Given the description of an element on the screen output the (x, y) to click on. 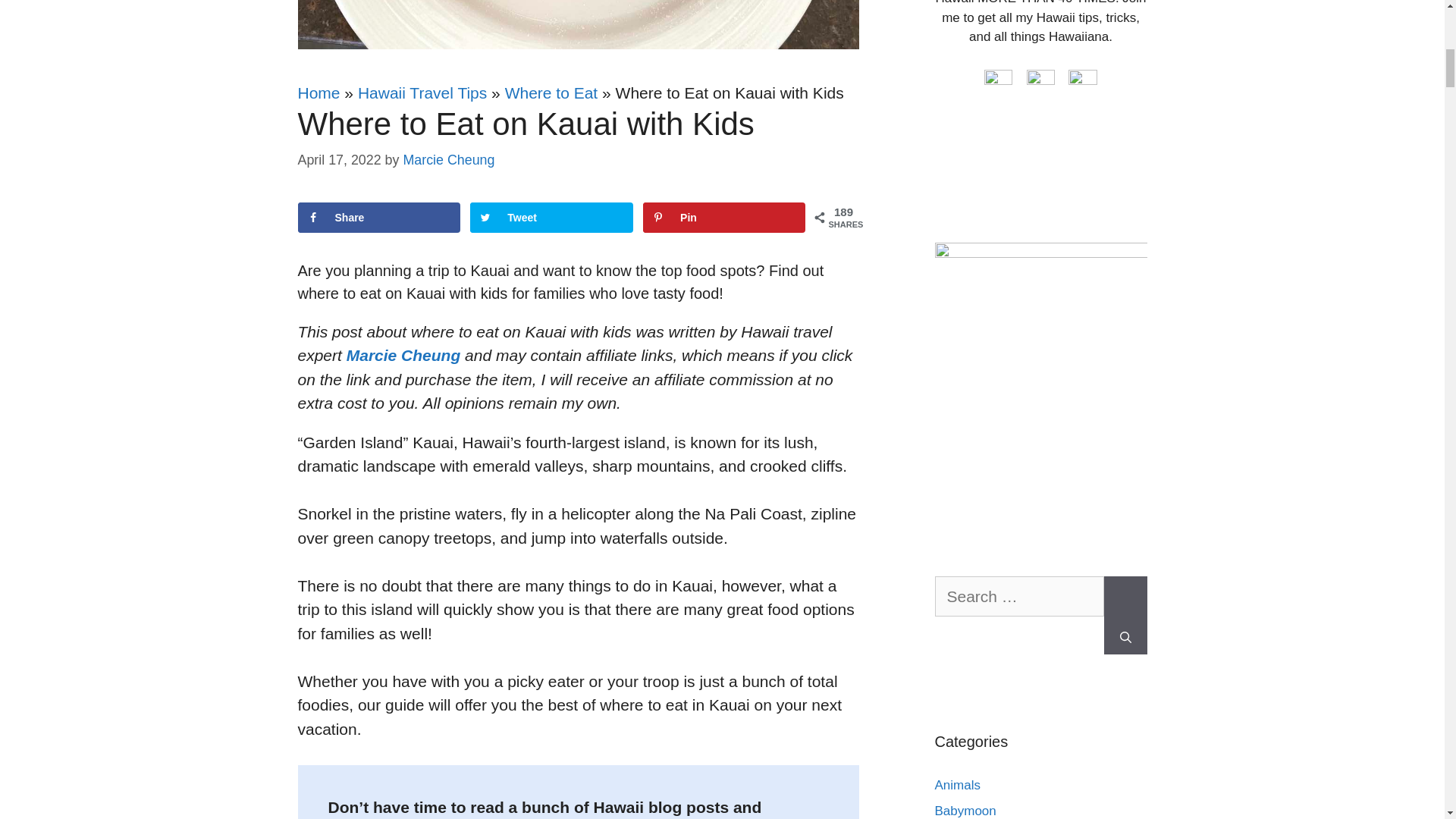
Search for: (1018, 596)
Share on Twitter (550, 217)
Share on Facebook (378, 217)
Save to Pinterest (724, 217)
View all posts by Marcie Cheung (449, 159)
